Given the description of an element on the screen output the (x, y) to click on. 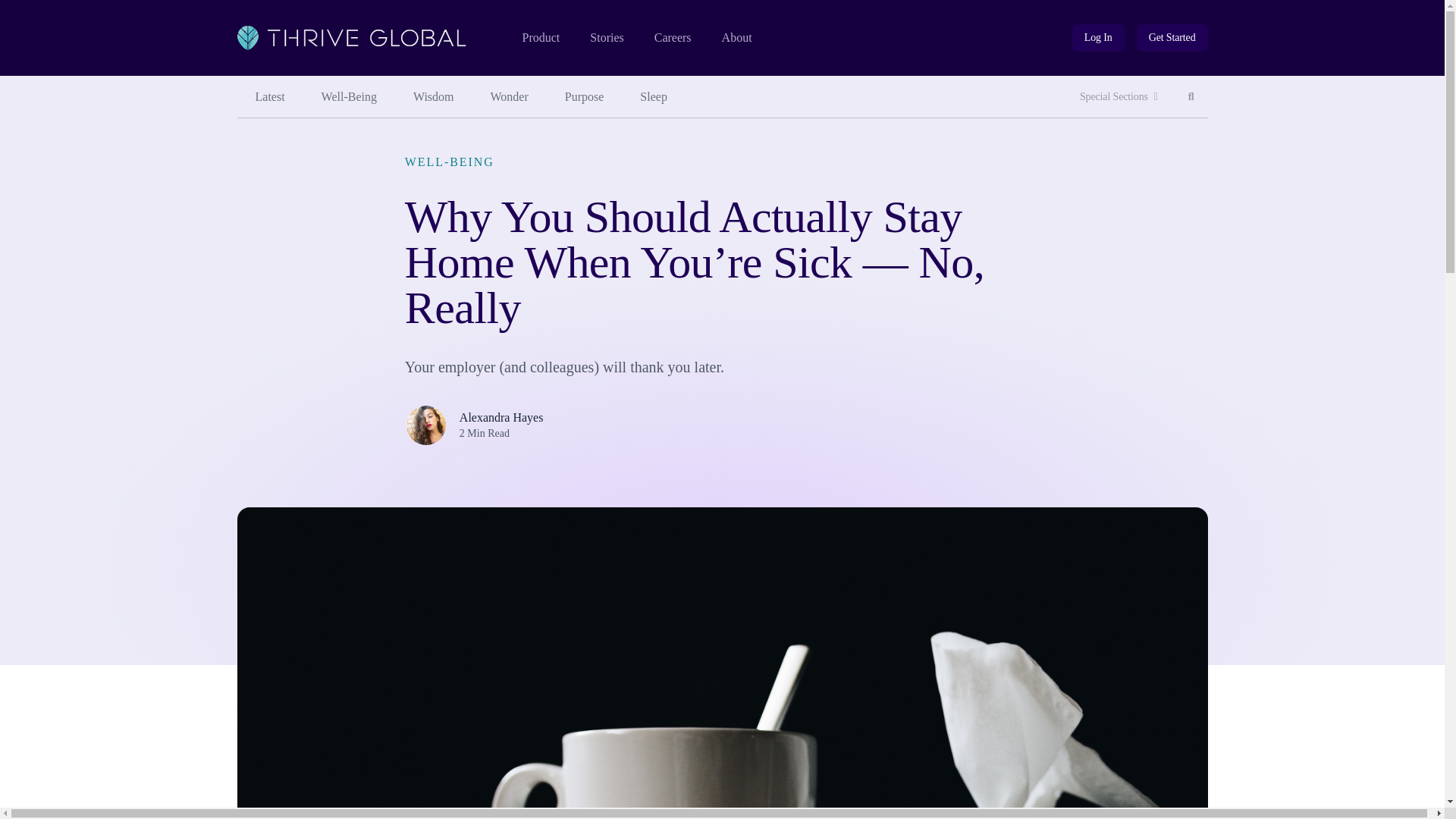
Product (540, 37)
Purpose (585, 96)
btn-primary (1172, 37)
Stories (606, 37)
Wisdom (432, 96)
btn-info (1097, 37)
Well-Being (348, 96)
Special Sections (1118, 97)
Sleep (653, 96)
Latest (268, 96)
